Given the description of an element on the screen output the (x, y) to click on. 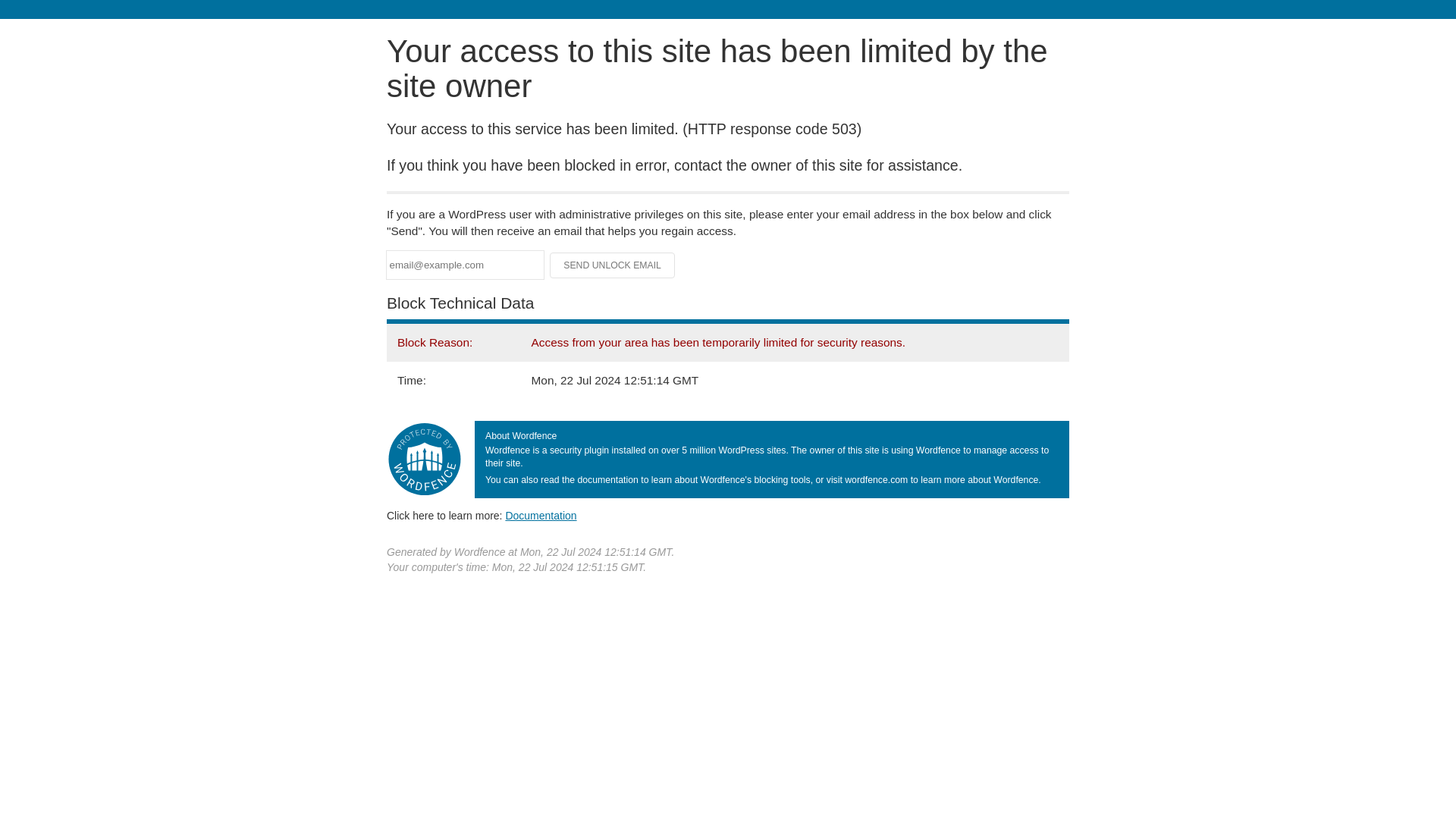
Send Unlock Email (612, 265)
Documentation (540, 515)
Send Unlock Email (612, 265)
